Given the description of an element on the screen output the (x, y) to click on. 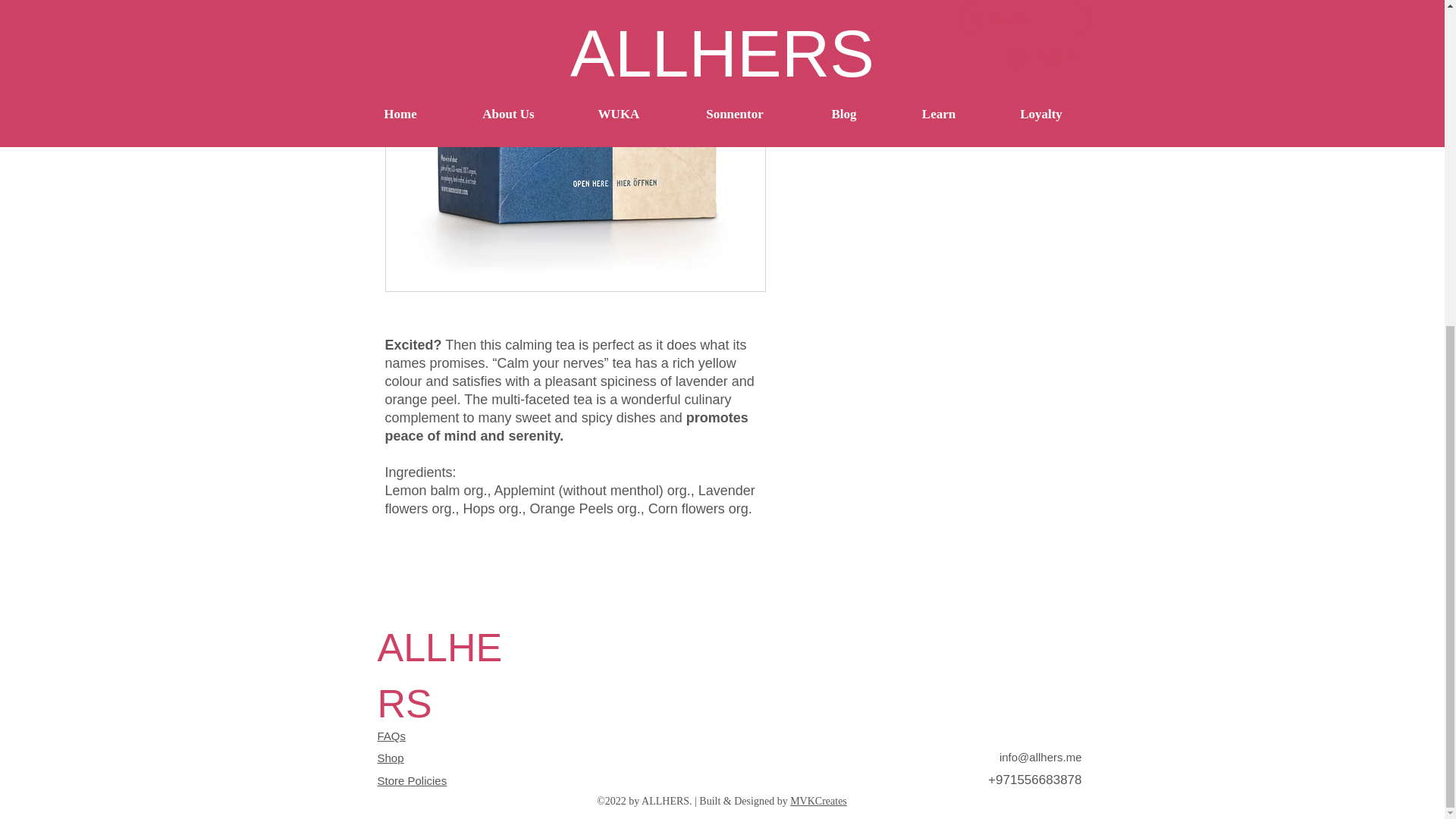
Store Policies (411, 780)
FAQs (391, 735)
MVKCreates (818, 800)
Shop (390, 757)
